Given the description of an element on the screen output the (x, y) to click on. 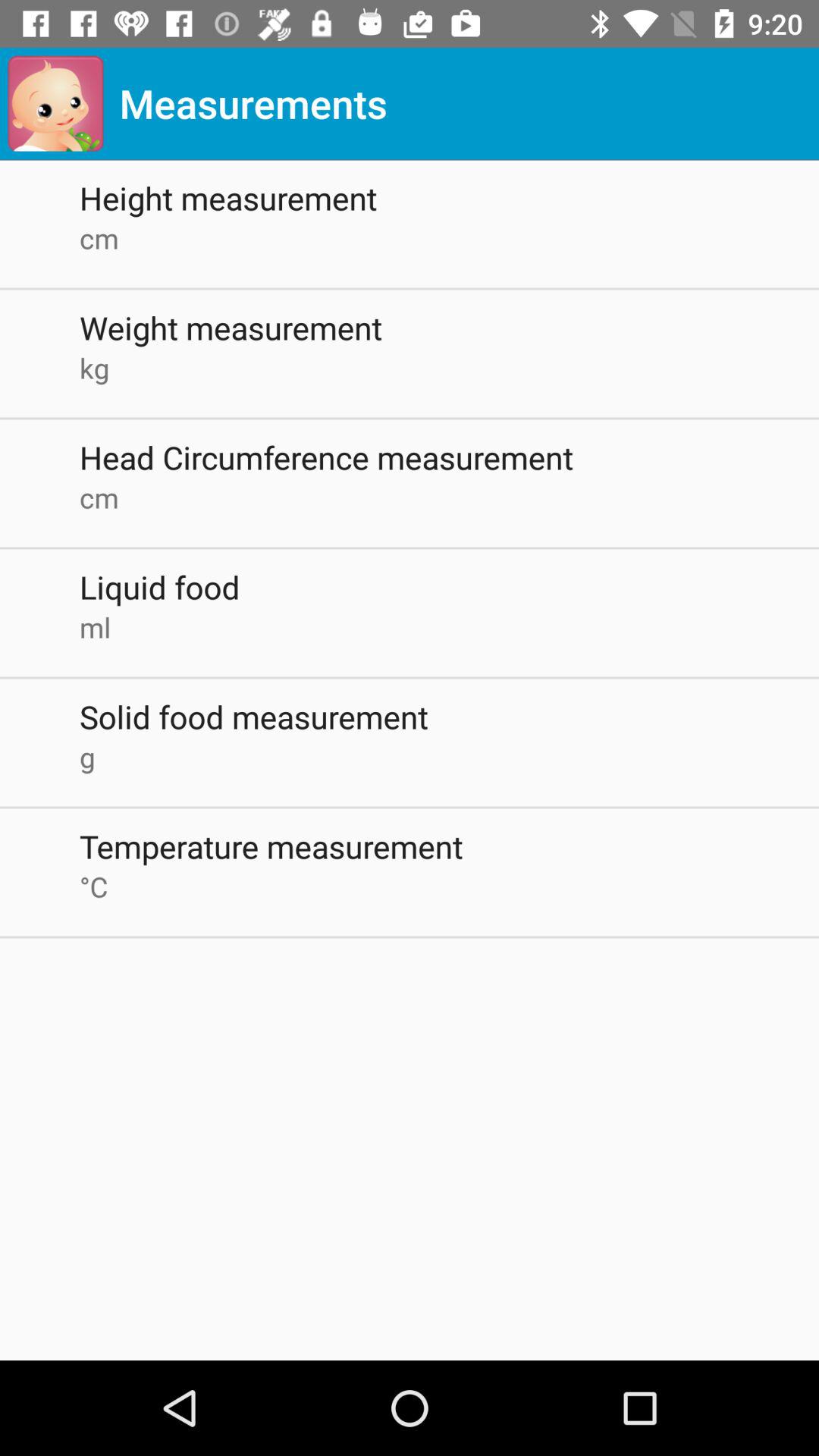
choose app above the height measurement (55, 103)
